Given the description of an element on the screen output the (x, y) to click on. 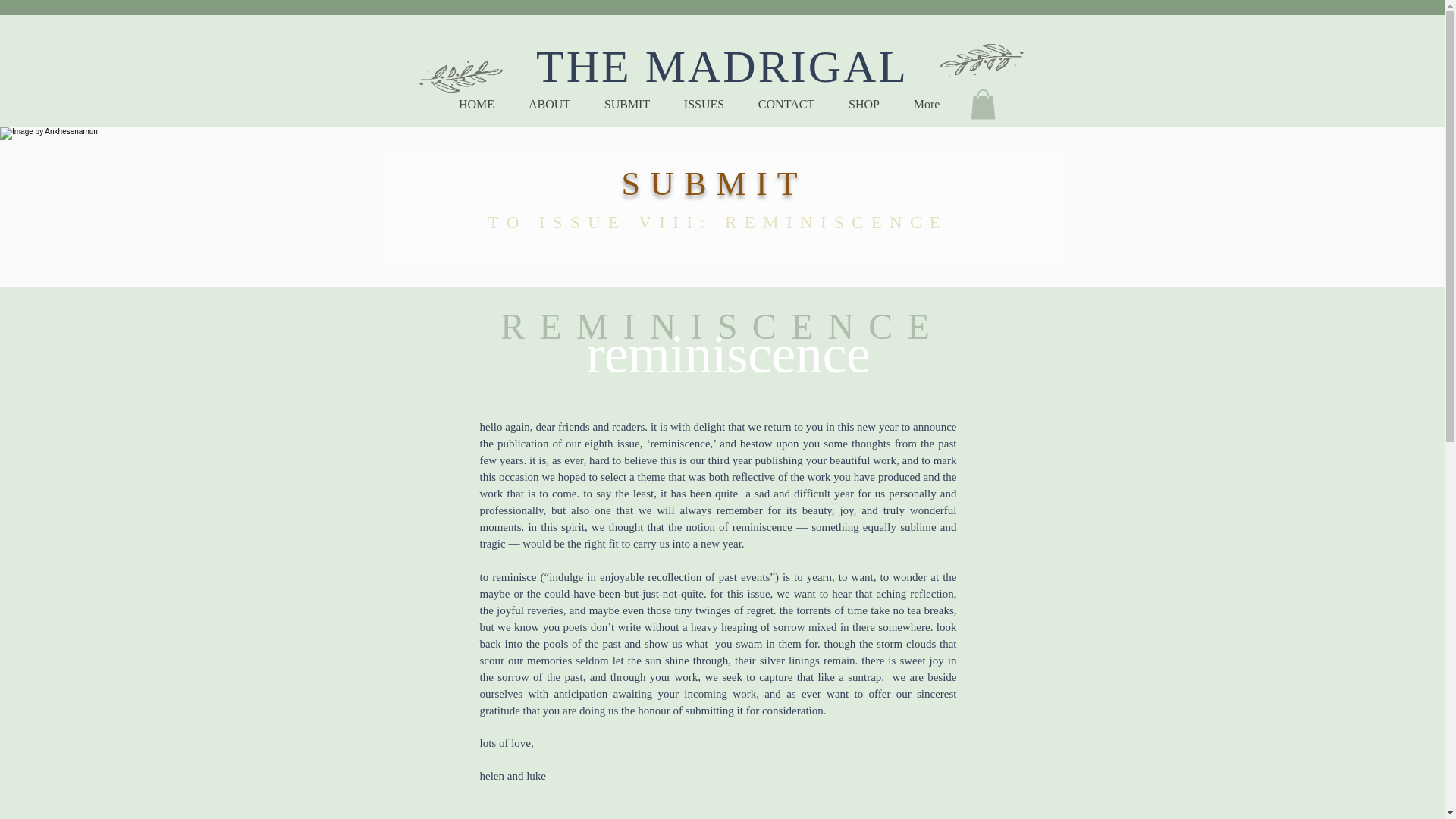
ISSUES (703, 104)
THE MADRIGAL (721, 65)
CONTACT (786, 104)
HOME (476, 104)
ABOUT (548, 104)
SUBMIT (626, 104)
SHOP (863, 104)
